Given the description of an element on the screen output the (x, y) to click on. 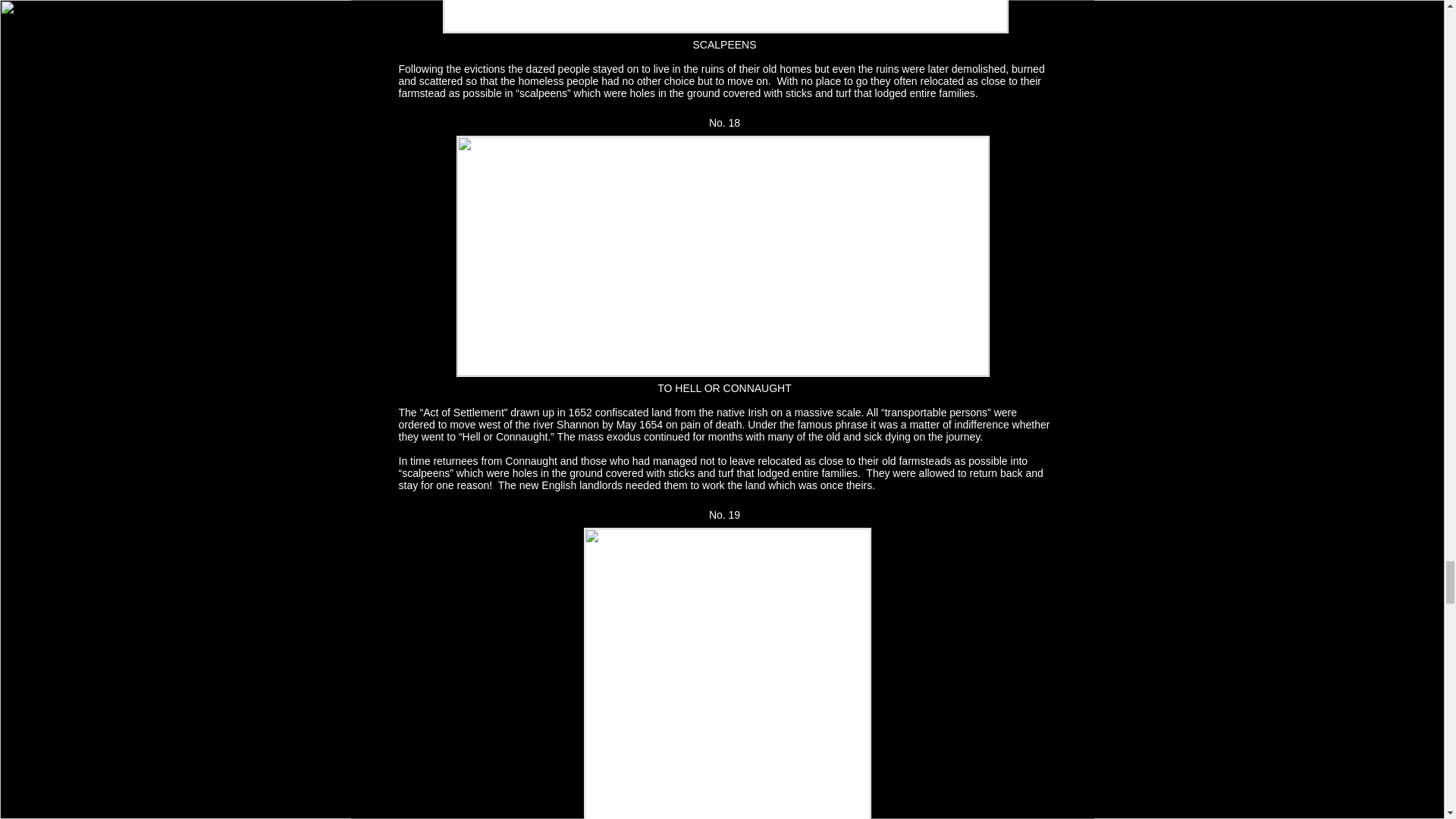
IMG-Chapter9S.jpg (723, 255)
IMG-Chapter9R.jpg (725, 16)
IMG-Chapter9T.jpg (726, 673)
